Given the description of an element on the screen output the (x, y) to click on. 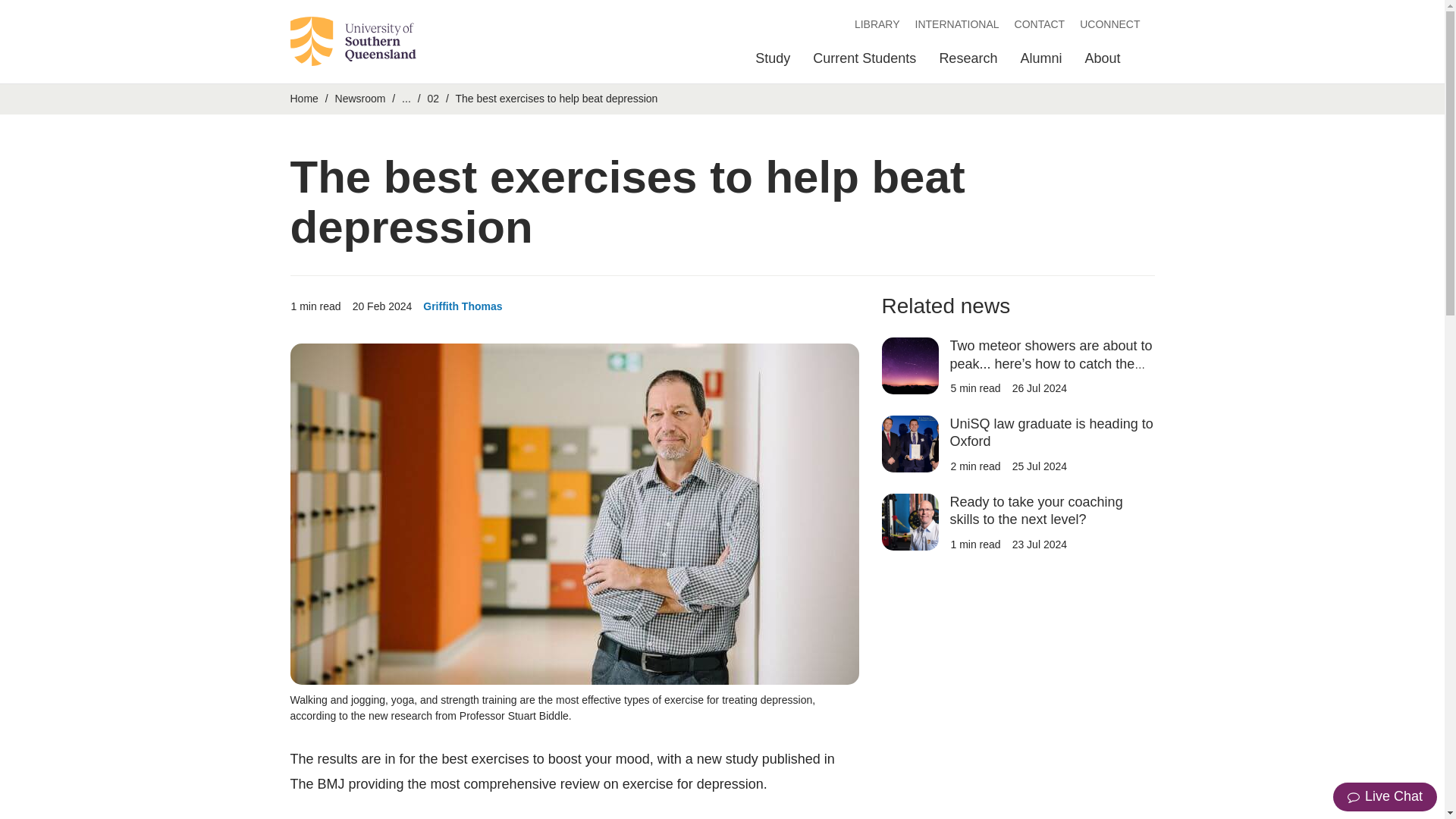
Study (773, 62)
Current Students (864, 62)
Live Chat (1385, 796)
Research (968, 62)
